Given the description of an element on the screen output the (x, y) to click on. 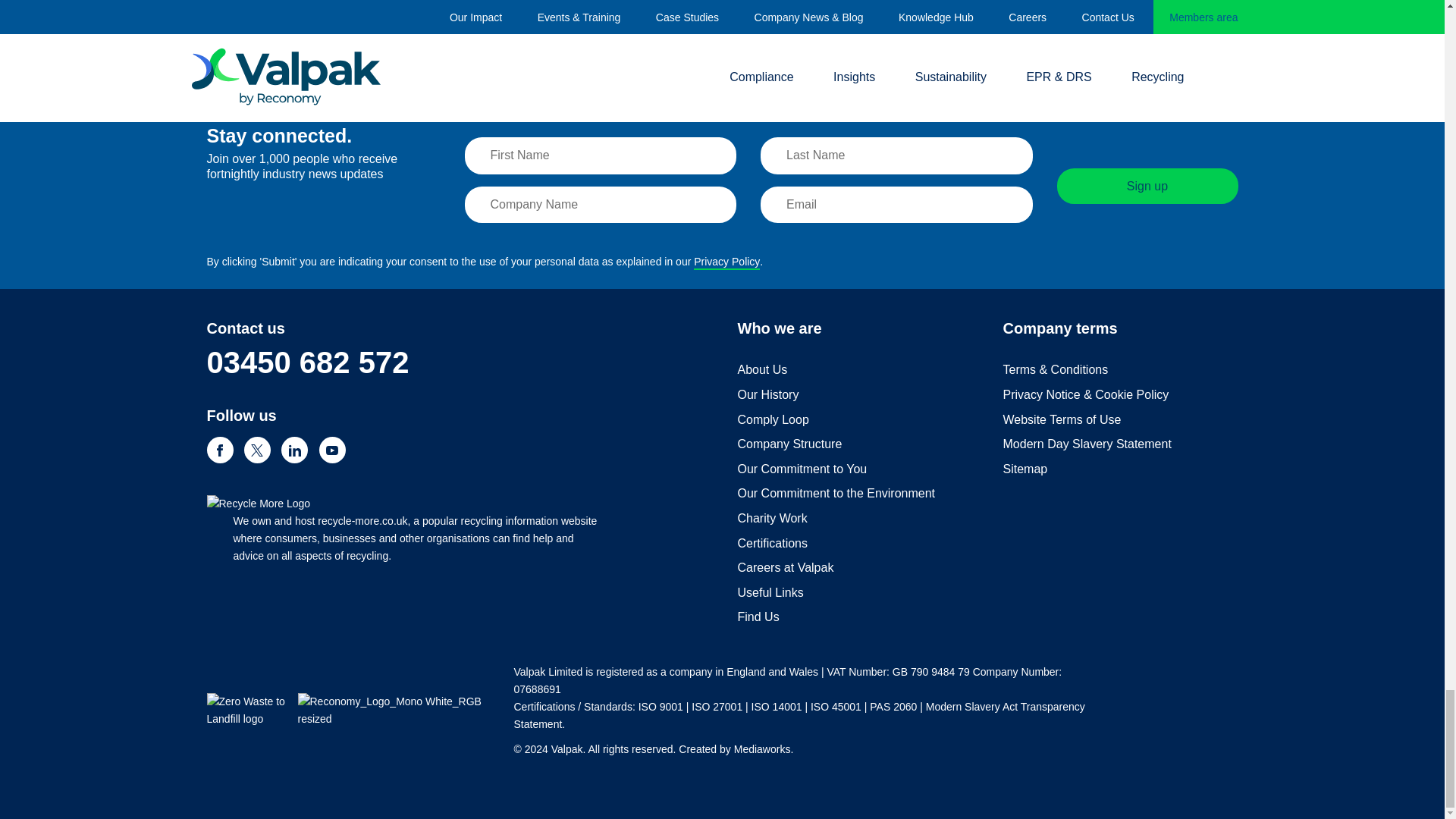
Sign up (1148, 185)
